Given the description of an element on the screen output the (x, y) to click on. 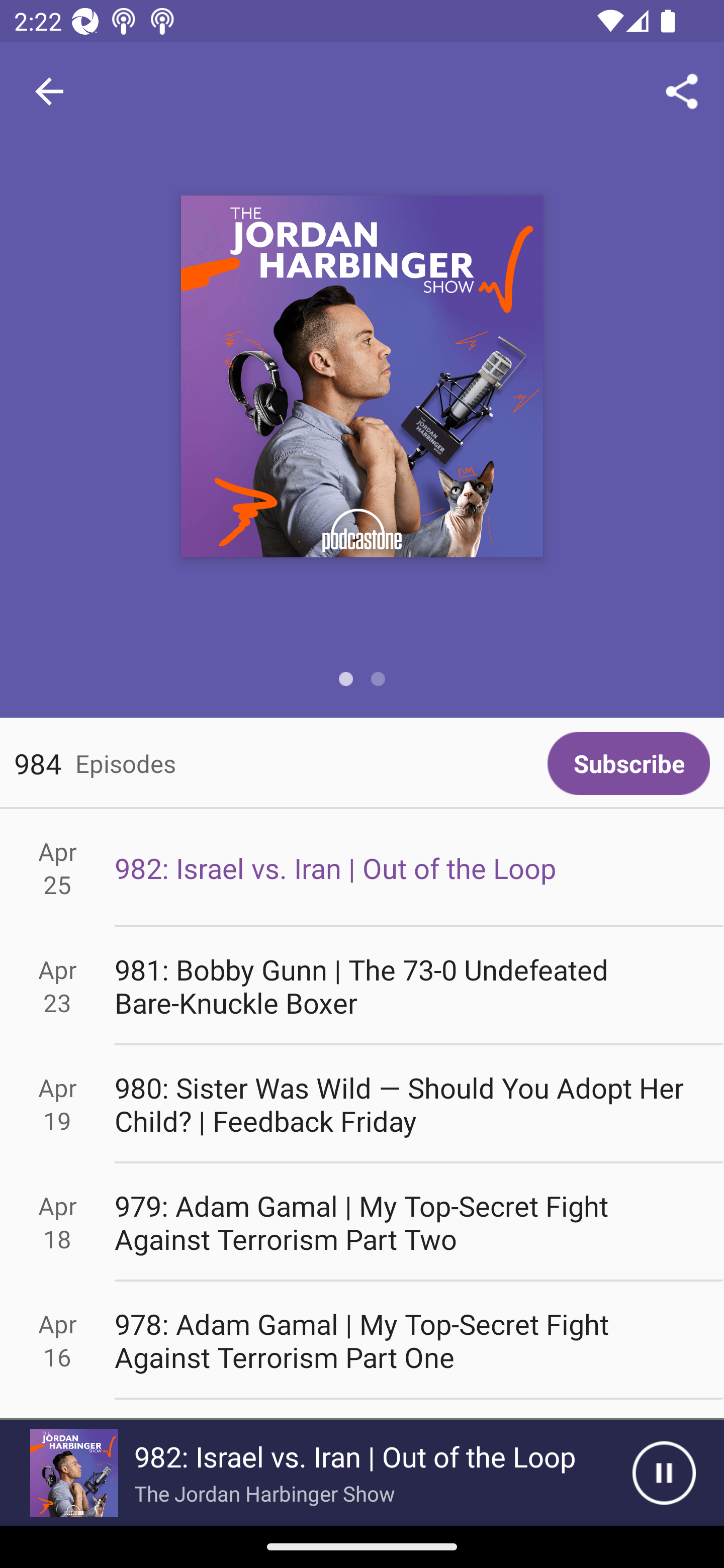
Navigate up (49, 91)
Share... (681, 90)
Subscribe (628, 763)
Apr 25 982: Israel vs. Iran | Out of the Loop (362, 867)
Pause (663, 1472)
